Given the description of an element on the screen output the (x, y) to click on. 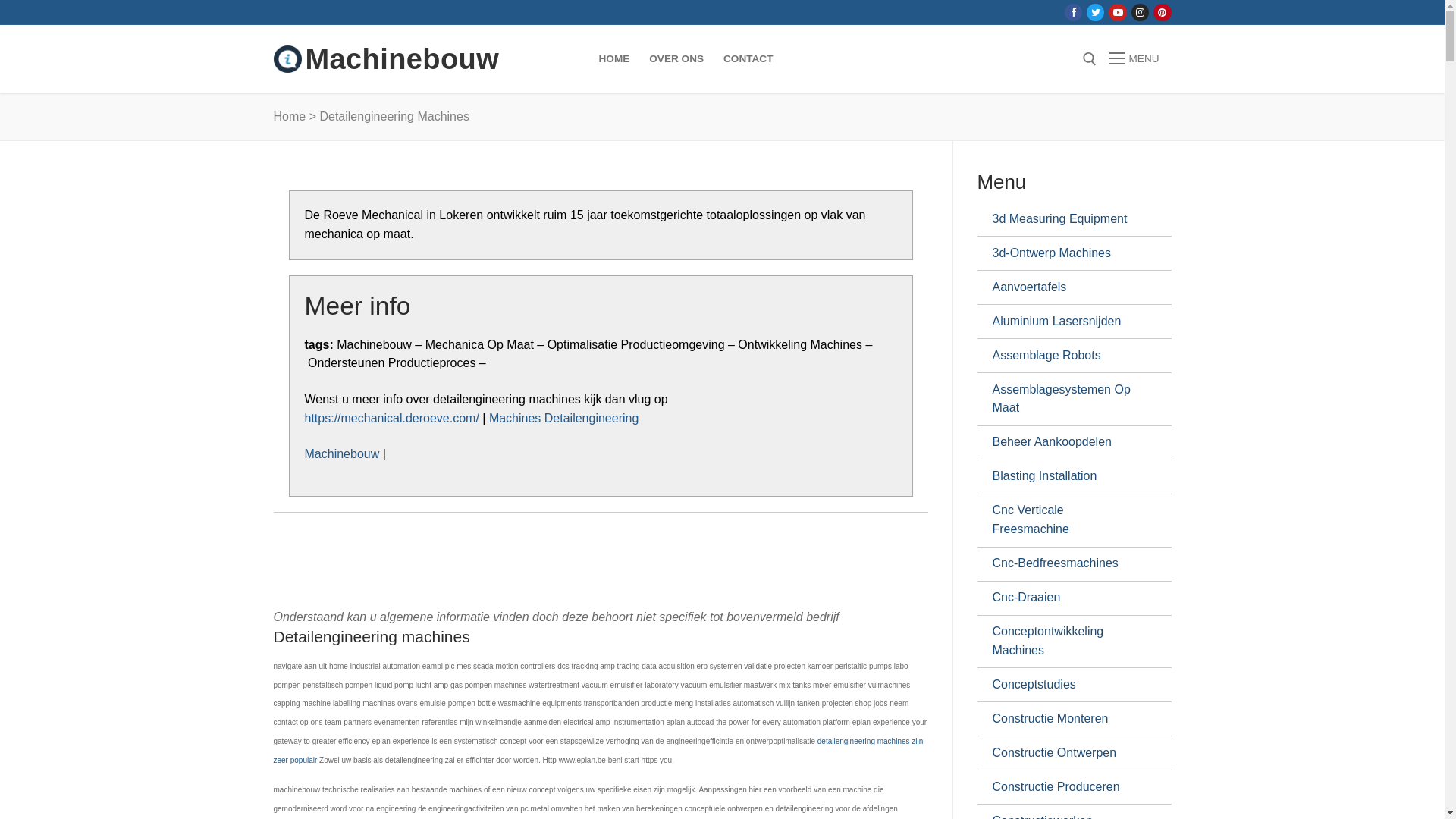
Machinebouw Element type: text (401, 58)
Assemblage Robots Element type: text (1067, 355)
Conceptstudies Element type: text (1067, 684)
Aluminium Lasersnijden Element type: text (1067, 321)
MENU Element type: text (1133, 59)
detailengineering machines zijn zeer populair Element type: text (597, 750)
Constructie Produceren Element type: text (1067, 786)
Youtube Element type: hover (1118, 12)
Constructie Monteren Element type: text (1067, 718)
Assemblagesystemen Op Maat Element type: text (1067, 399)
Facebook Element type: hover (1073, 12)
3d-Ontwerp Machines Element type: text (1067, 252)
Blasting Installation Element type: text (1067, 476)
Conceptontwikkeling Machines Element type: text (1067, 641)
Machines Detailengineering Element type: text (563, 417)
3d Measuring Equipment Element type: text (1067, 218)
Constructie Ontwerpen Element type: text (1067, 752)
Instagram Element type: hover (1140, 12)
https://mechanical.deroeve.com/ Element type: text (391, 417)
Aanvoertafels Element type: text (1067, 287)
CONTACT Element type: text (747, 58)
Pinterest Element type: hover (1162, 12)
Doorgaan naar inhoud Element type: text (0, 0)
Cnc Verticale Freesmachine Element type: text (1067, 520)
Beheer Aankoopdelen Element type: text (1067, 442)
Cnc-Bedfreesmachines Element type: text (1067, 563)
OVER ONS Element type: text (676, 58)
Cnc-Draaien Element type: text (1067, 598)
Twitter Element type: hover (1095, 12)
Machinebouw Element type: text (341, 453)
HOME Element type: text (613, 58)
